Given the description of an element on the screen output the (x, y) to click on. 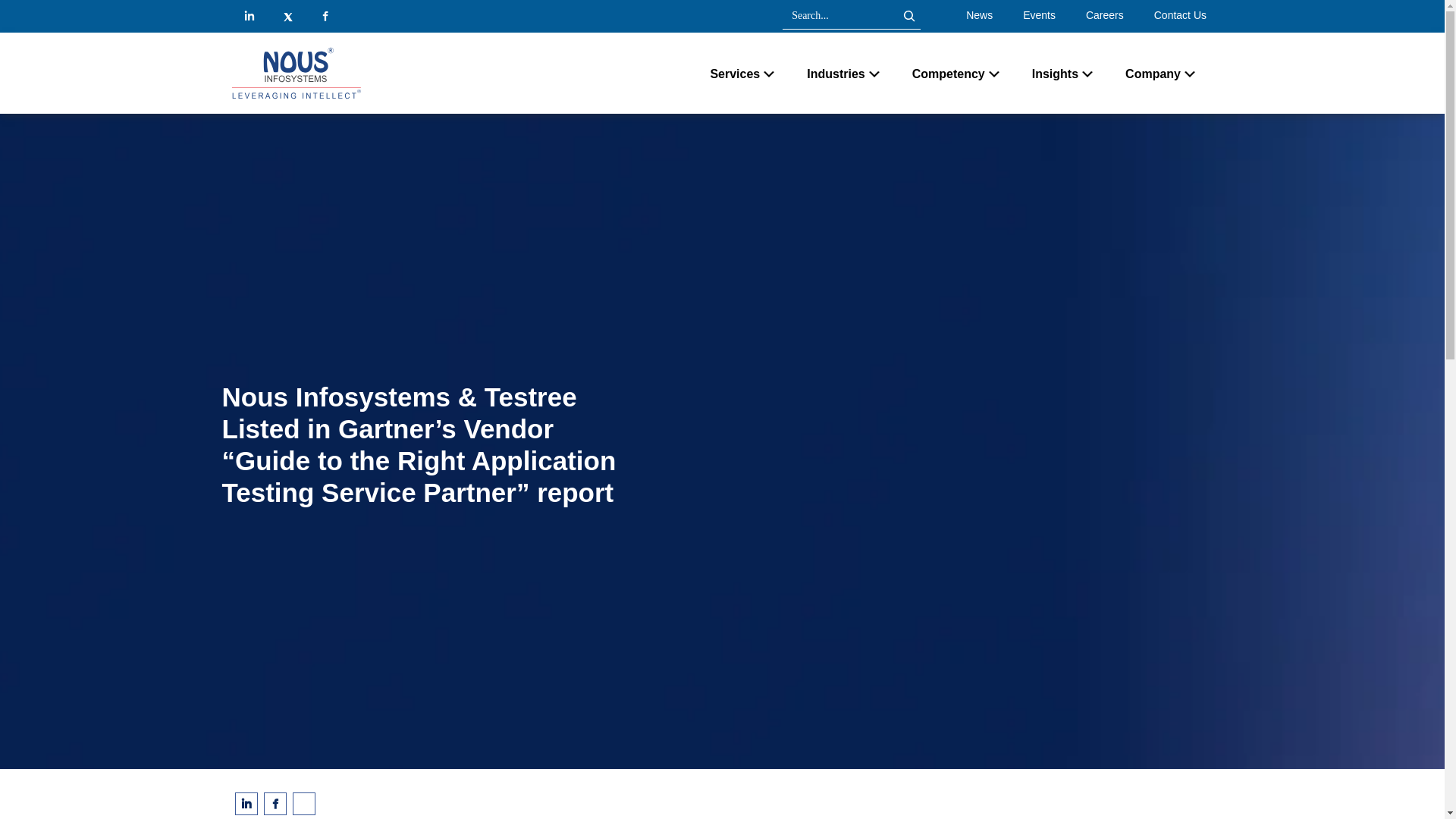
News (979, 14)
Careers (1104, 14)
Contact Us (1179, 14)
Events (1039, 14)
